Given the description of an element on the screen output the (x, y) to click on. 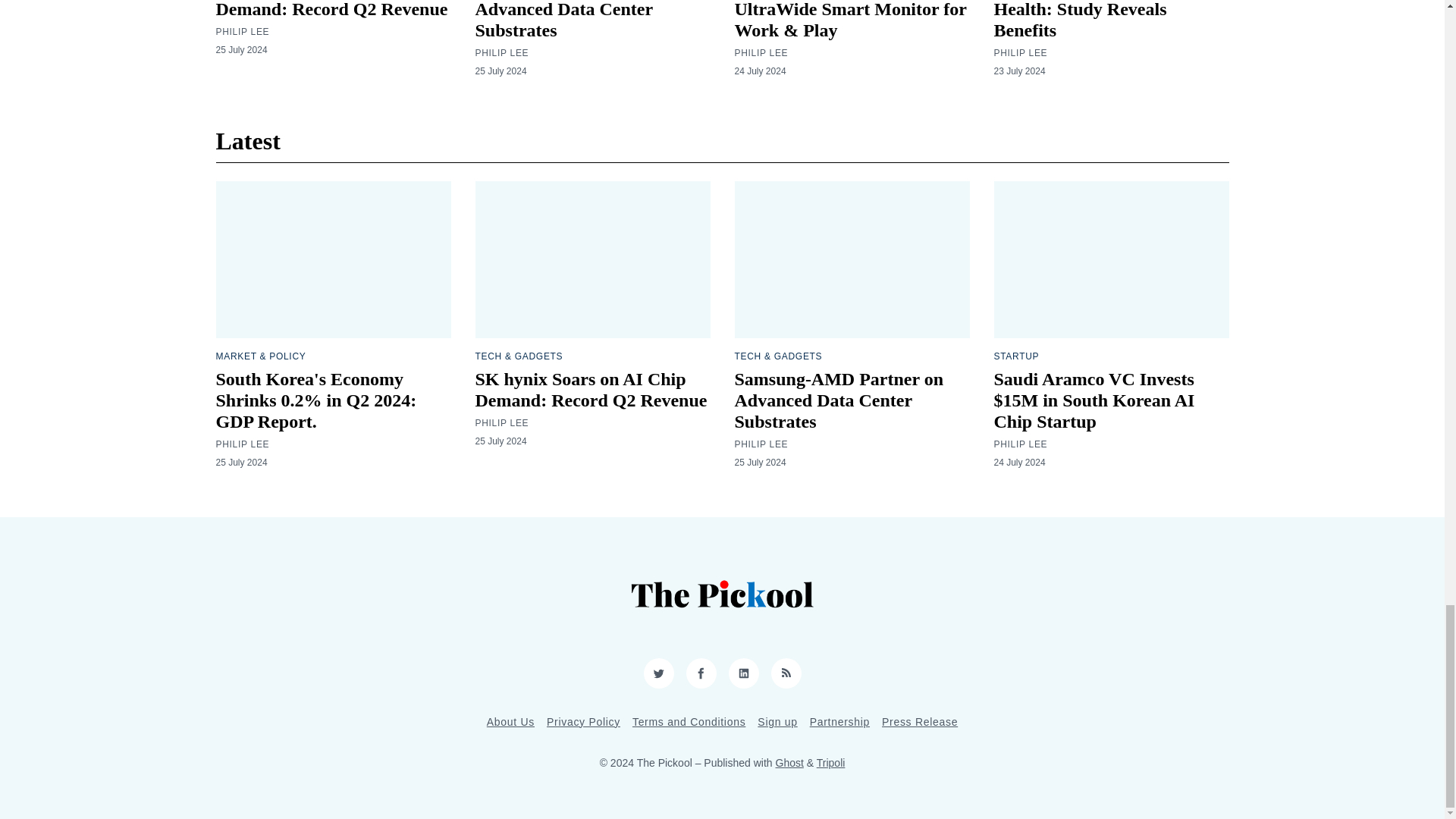
PHILIP LEE (242, 31)
Samsung-AMD Partner on Advanced Data Center Substrates (579, 20)
PHILIP LEE (501, 52)
SK hynix Soars on AI Chip Demand: Record Q2 Revenue (330, 9)
